Given the description of an element on the screen output the (x, y) to click on. 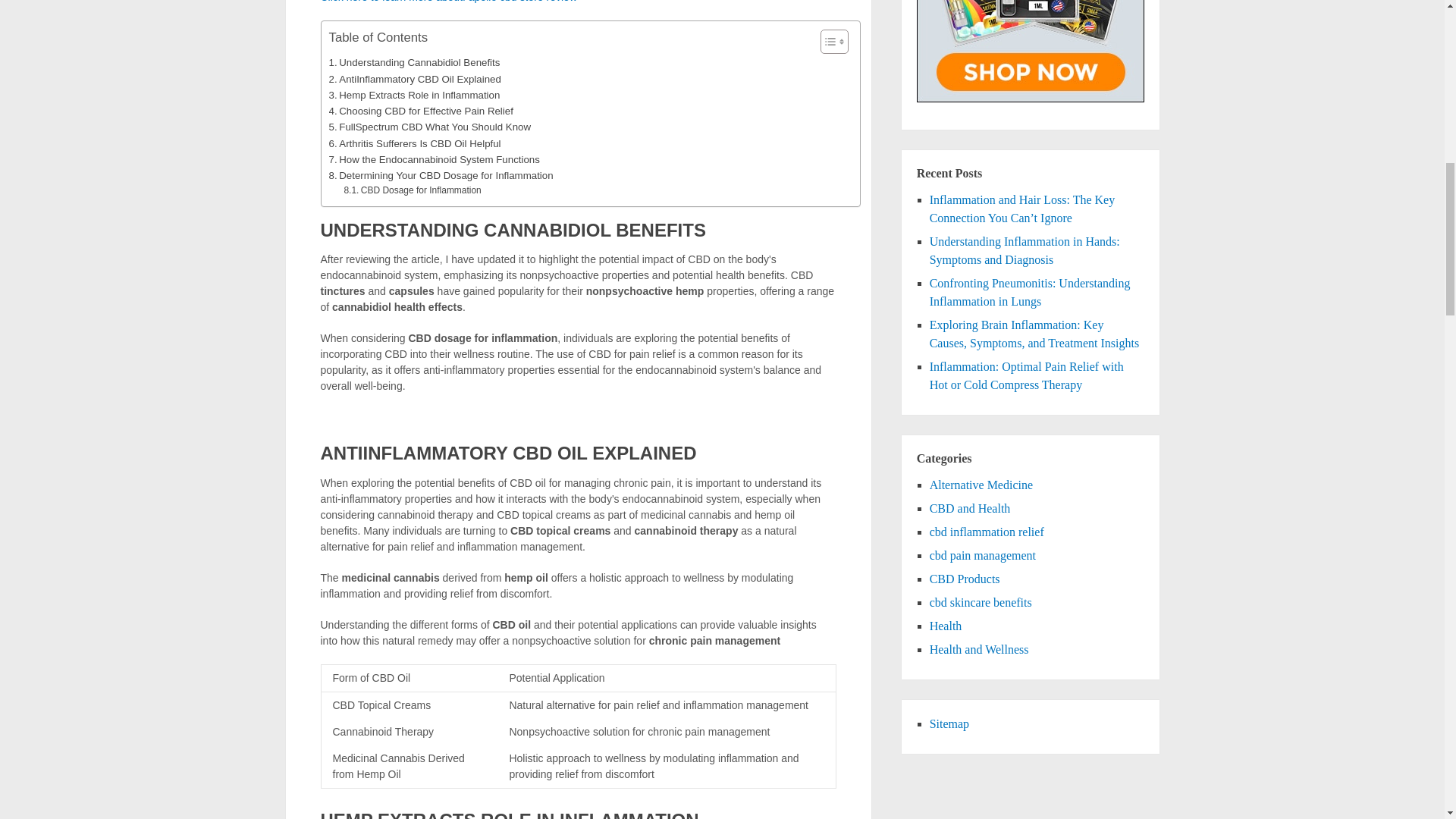
AntiInflammatory CBD Oil Explained (414, 78)
Hemp Extracts Role in Inflammation (414, 94)
Arthritis Sufferers Is CBD Oil Helpful (414, 143)
Determining Your CBD Dosage for Inflammation (441, 175)
Understanding Inflammation in Hands: Symptoms and Diagnosis (1024, 250)
FullSpectrum CBD What You Should Know (430, 126)
Choosing CBD for Effective Pain Relief (421, 110)
Click here to learn more about. apollo cbd store review (448, 1)
AntiInflammatory CBD Oil Explained (414, 78)
Arthritis Sufferers Is CBD Oil Helpful (414, 143)
